Given the description of an element on the screen output the (x, y) to click on. 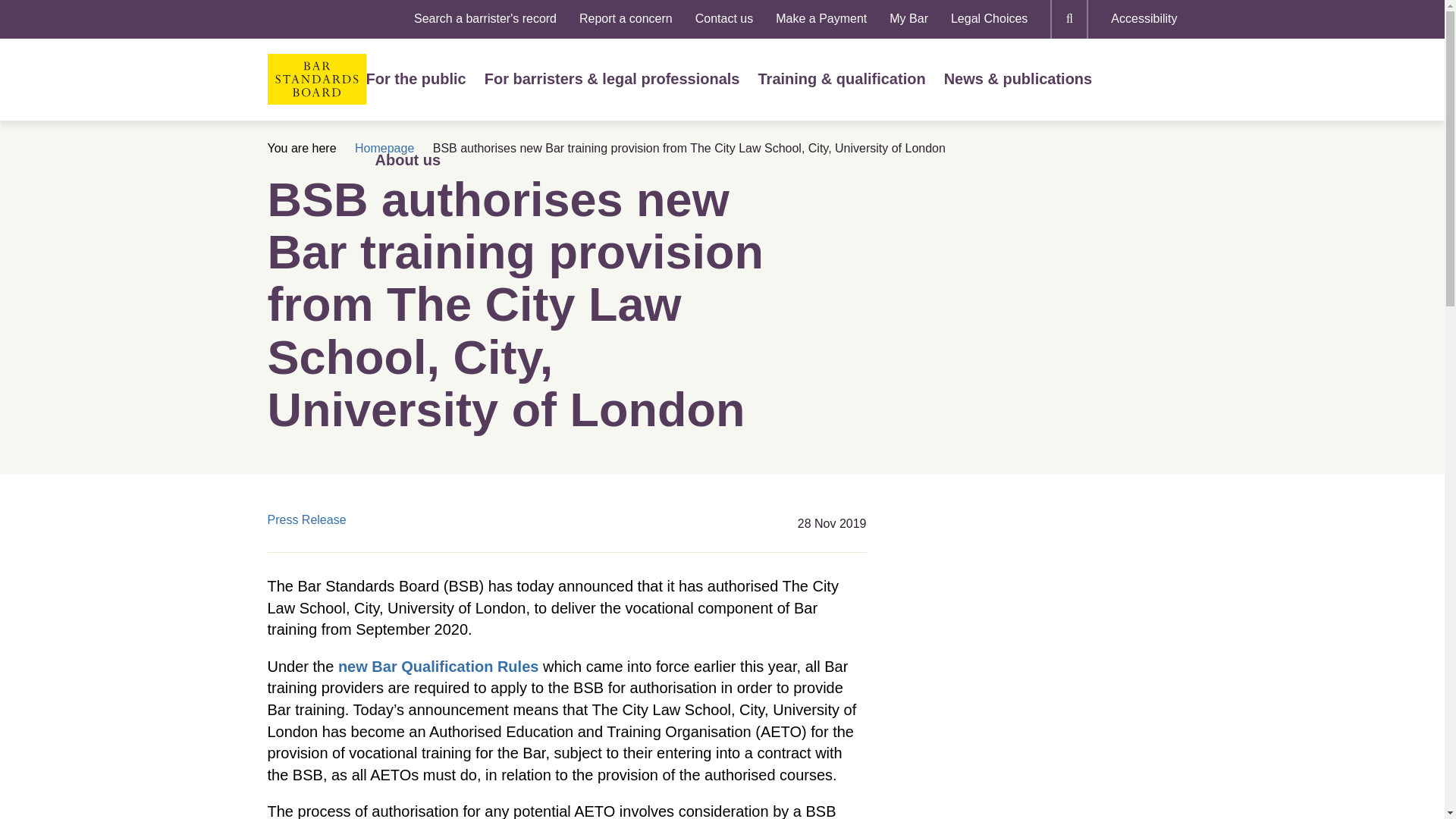
Report a concern (625, 19)
For the public (415, 79)
Make a Payment (821, 19)
Legal Choices (988, 19)
Accessibility (1143, 19)
Contact us (723, 19)
Report a concern (625, 19)
Legal Choices (988, 19)
Make a Payment (821, 19)
Search a barrister's record (484, 19)
My Bar (908, 19)
Contact us (723, 19)
Search a barrister's record (484, 19)
My Bar (908, 19)
